Given the description of an element on the screen output the (x, y) to click on. 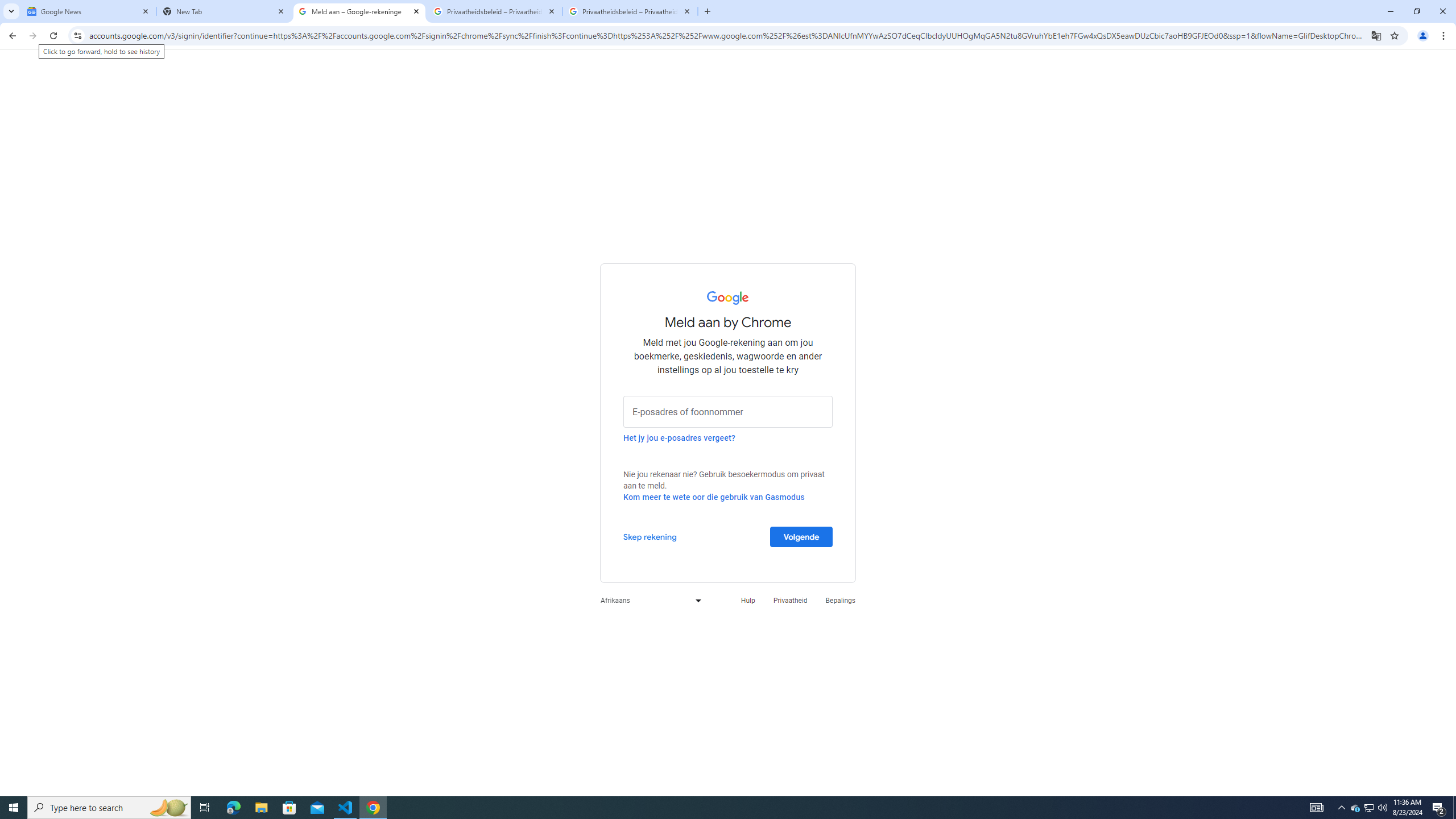
E-posadres of foonnommer (727, 411)
